Given the description of an element on the screen output the (x, y) to click on. 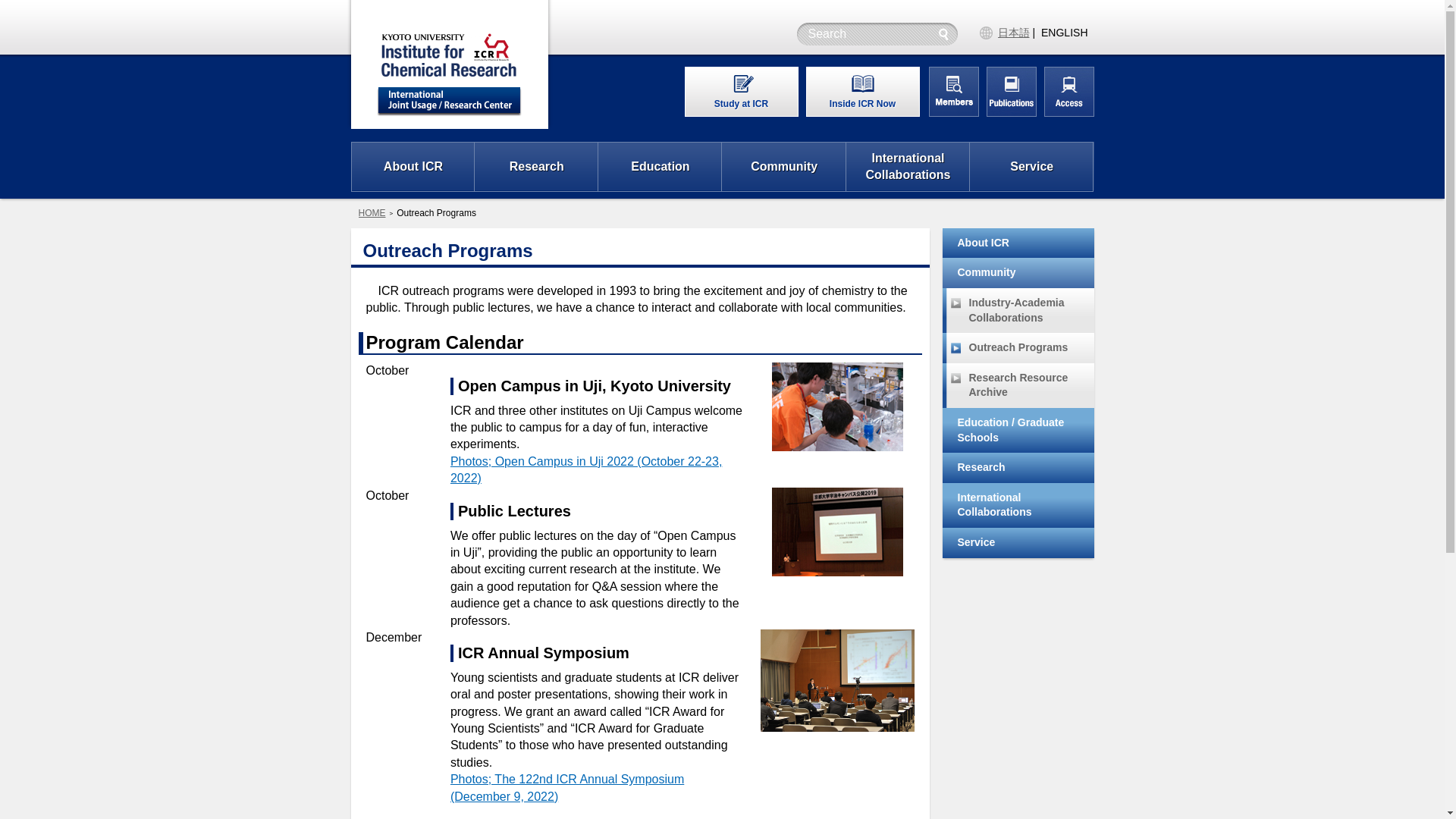
Community (783, 166)
About ICR (414, 166)
International Collaborations (908, 166)
Study at ICR (741, 91)
Service (1031, 166)
Inside ICR Now (862, 91)
Research (536, 166)
ENGLISH (1064, 32)
Education (660, 166)
